Given the description of an element on the screen output the (x, y) to click on. 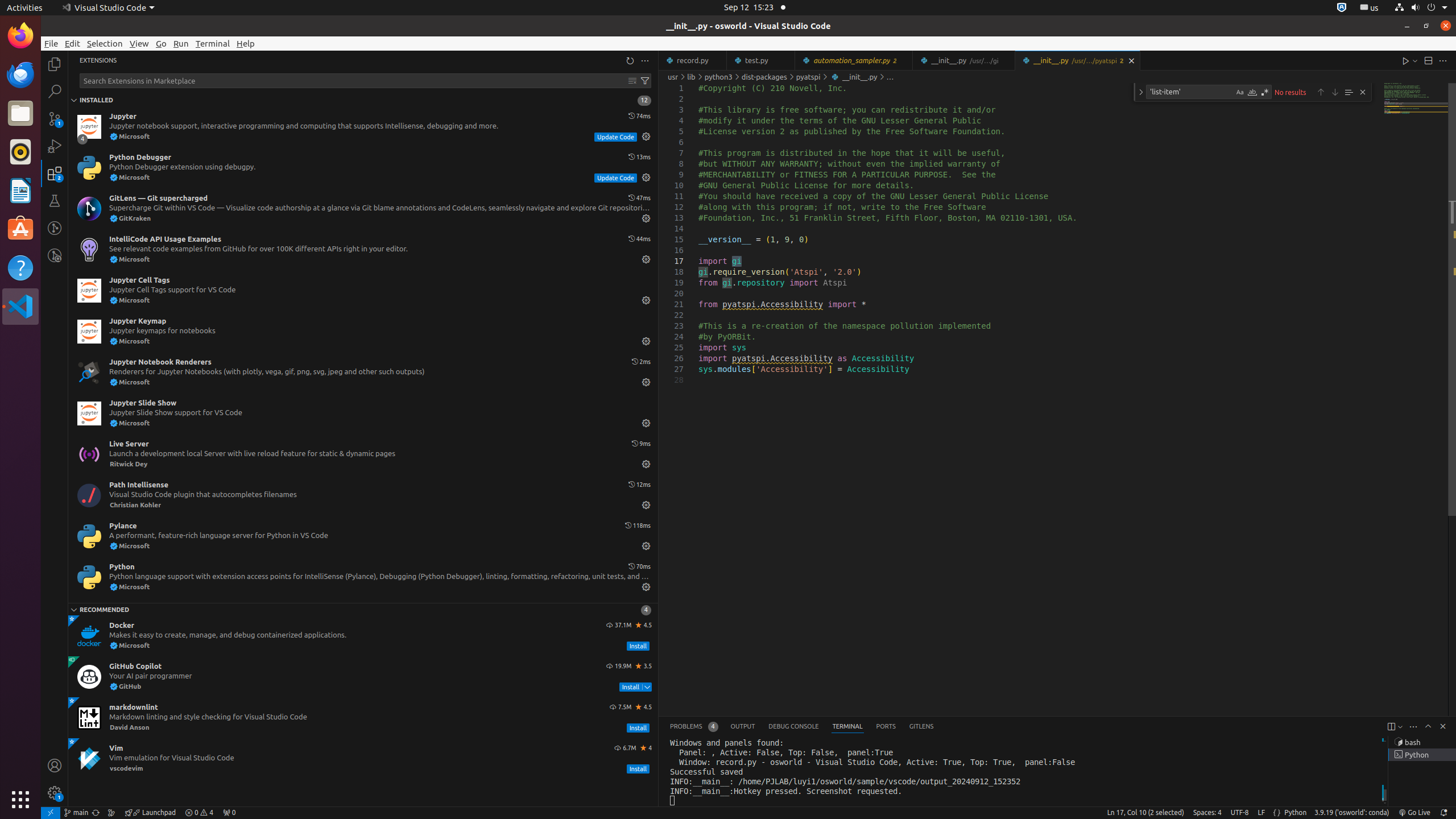
Pylance, 2024.9.1, Verified Publisher Microsoft, A performant, feature-rich language server for Python in VS Code , Rated 3.09 out of 5 stars by 233 users Element type: list-item (363, 535)
Terminal 5 Python Element type: list-item (1422, 754)
Match Case (Alt+C) Element type: check-box (1239, 91)
